Given the description of an element on the screen output the (x, y) to click on. 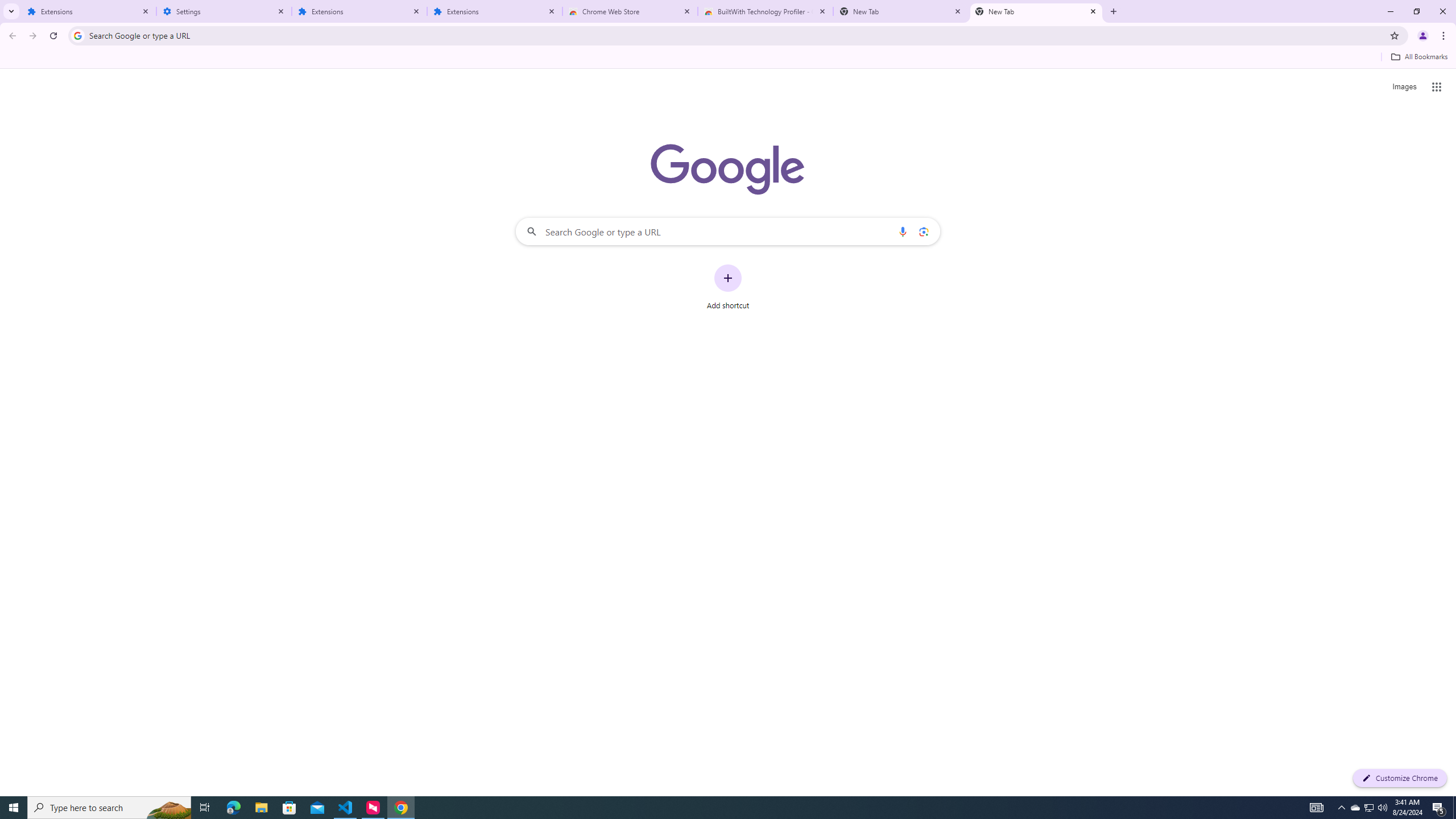
Extensions (88, 11)
Extensions (359, 11)
Extensions (494, 11)
Search for Images  (1403, 87)
New Tab (1036, 11)
Search by voice (902, 230)
